Given the description of an element on the screen output the (x, y) to click on. 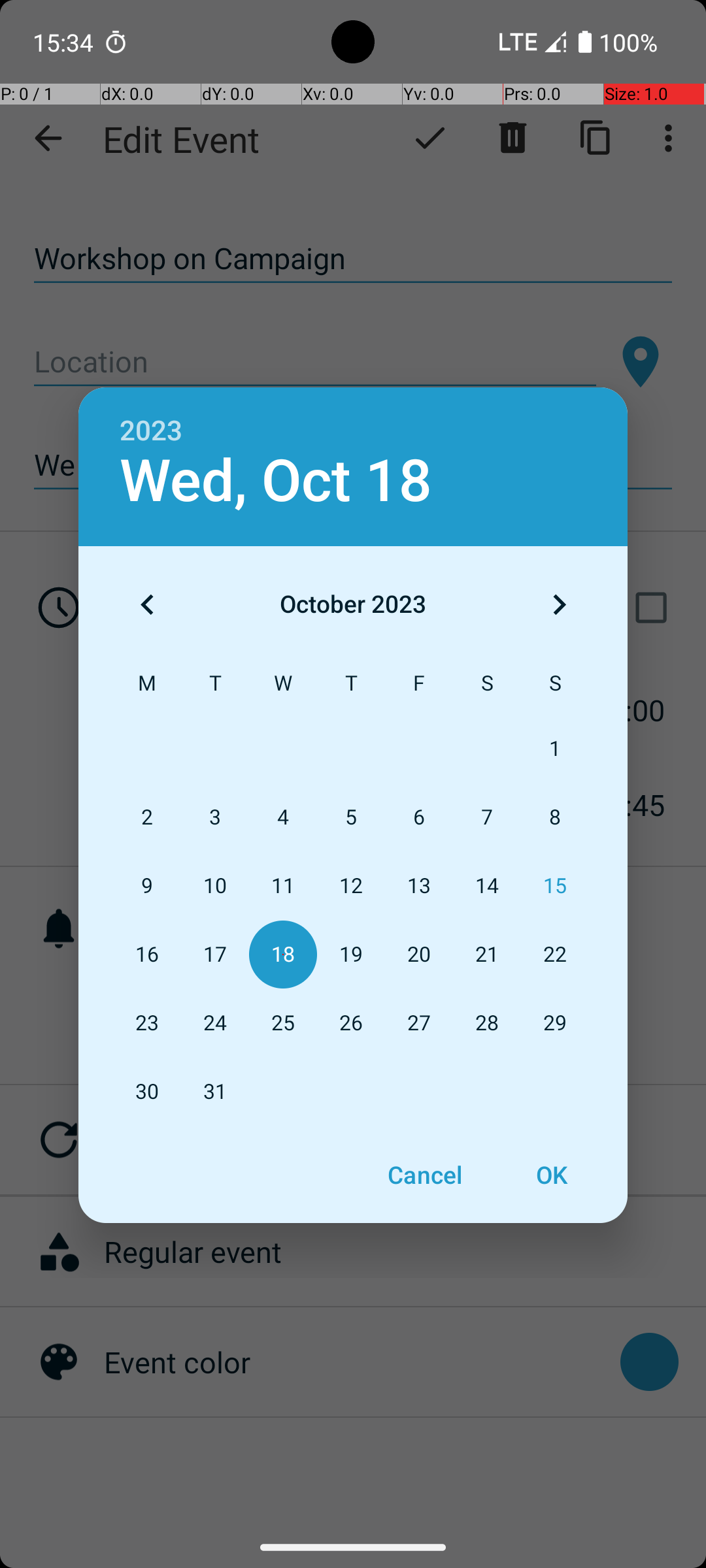
Wed, Oct 18 Element type: android.widget.TextView (275, 480)
